Given the description of an element on the screen output the (x, y) to click on. 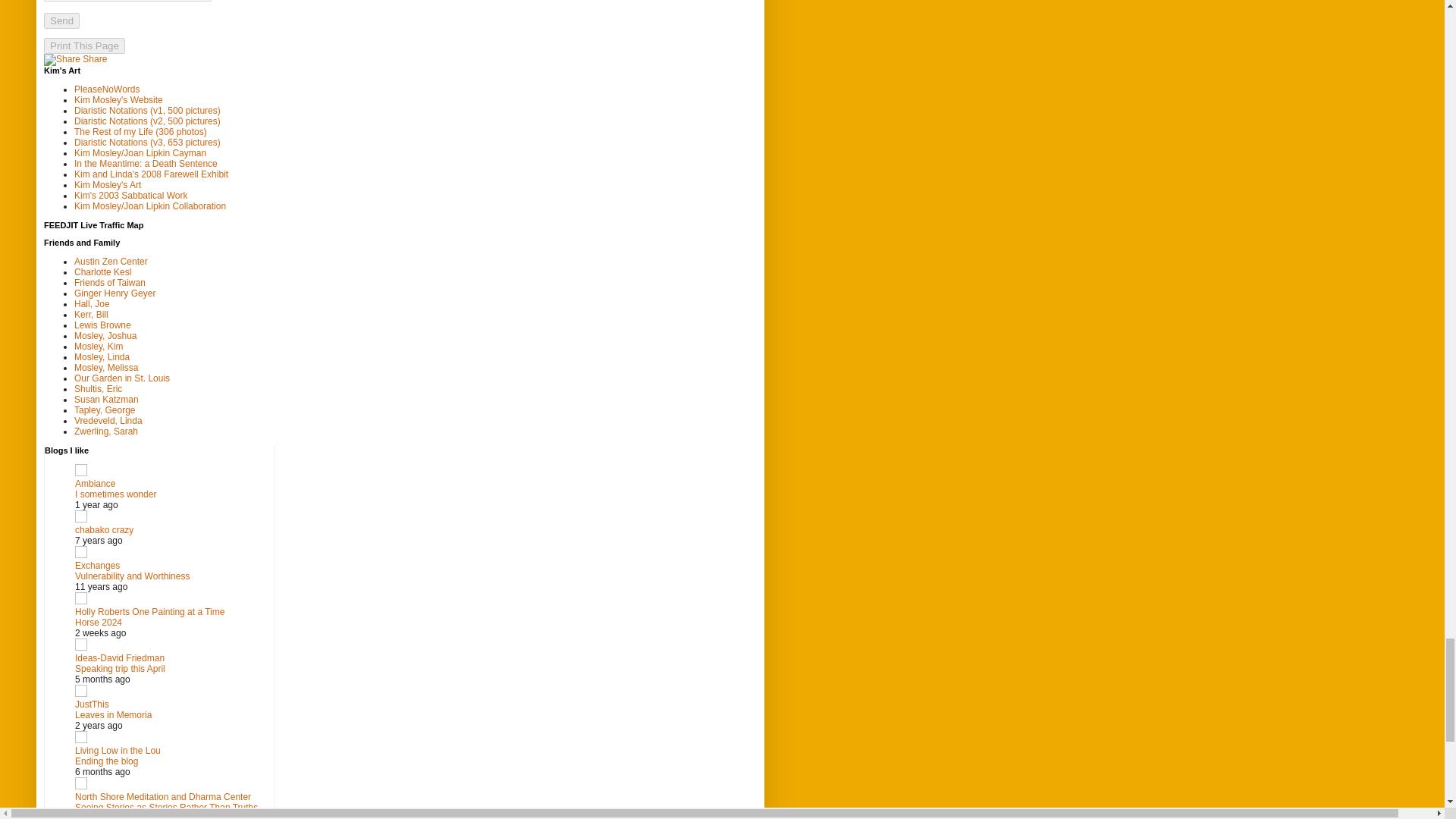
Print This Page (84, 45)
Send (61, 20)
